Given the description of an element on the screen output the (x, y) to click on. 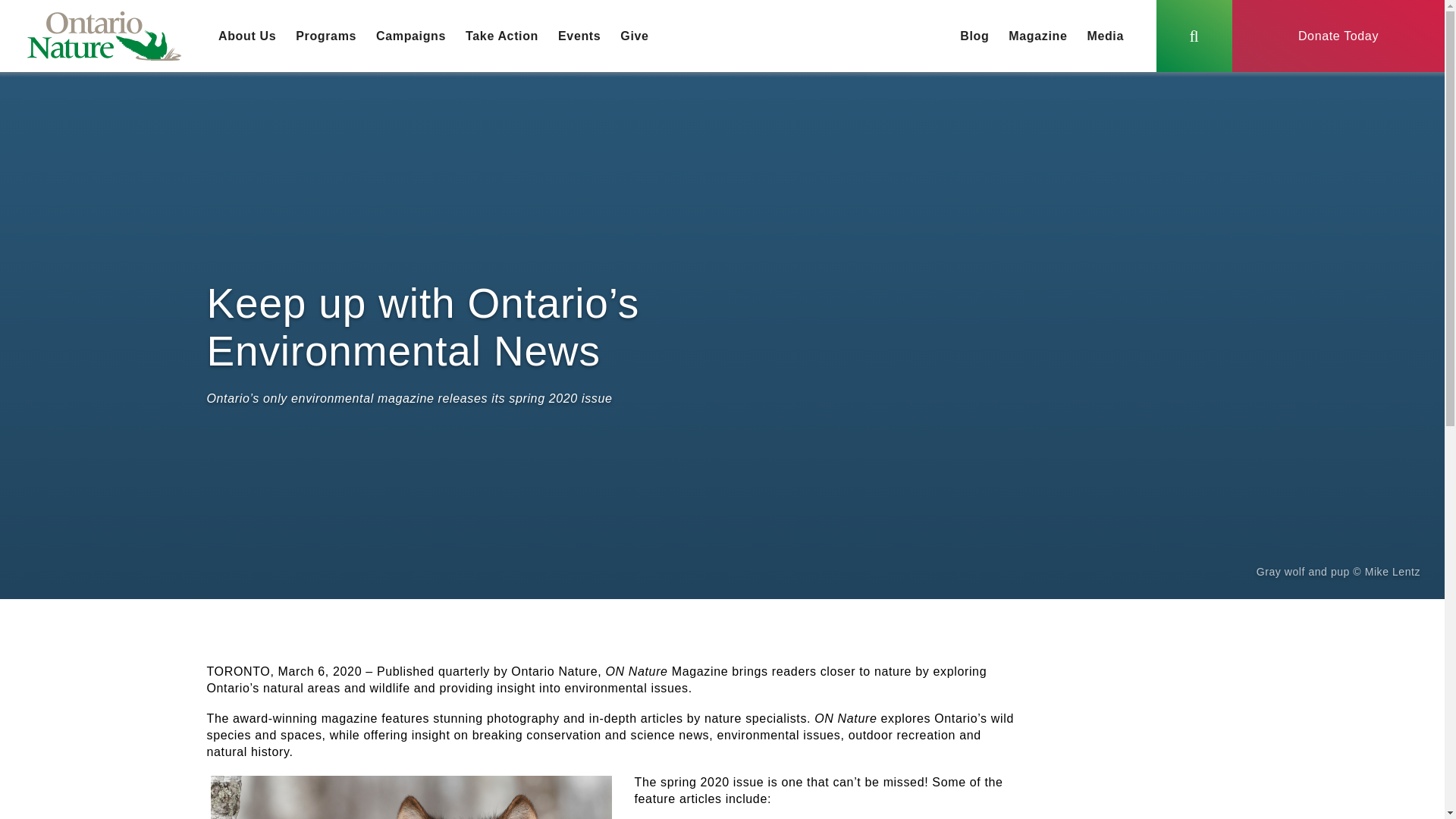
About Us (246, 36)
Home (104, 35)
Programs (325, 36)
